Given the description of an element on the screen output the (x, y) to click on. 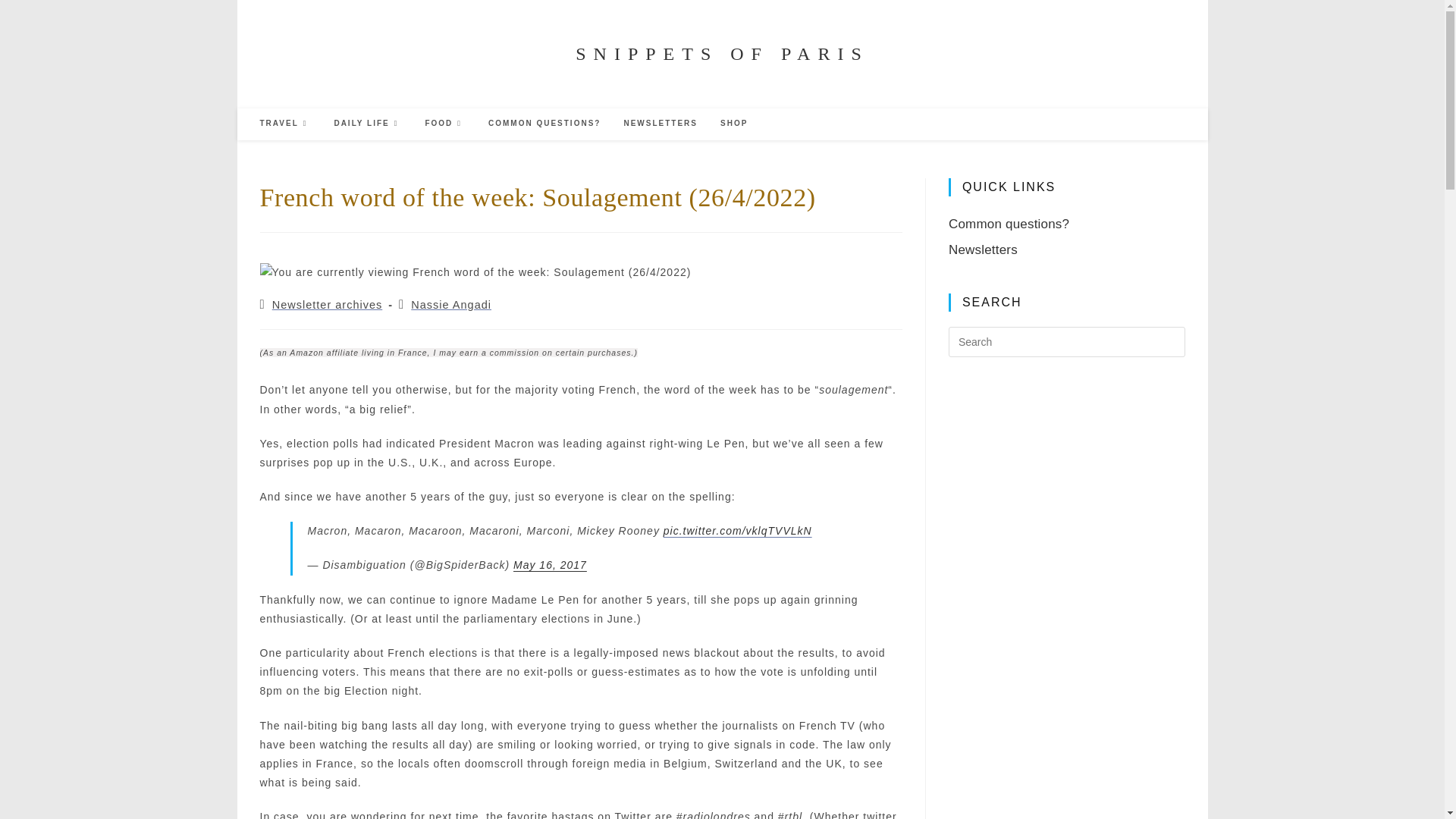
FOOD (445, 123)
DAILY LIFE (367, 123)
May 16, 2017 (549, 564)
Newsletter archives (327, 304)
Posts by Nassie Angadi (451, 304)
COMMON QUESTIONS? (544, 123)
SNIPPETS OF PARIS (722, 53)
Nassie Angadi (451, 304)
NEWSLETTERS (660, 123)
SHOP (733, 123)
